Given the description of an element on the screen output the (x, y) to click on. 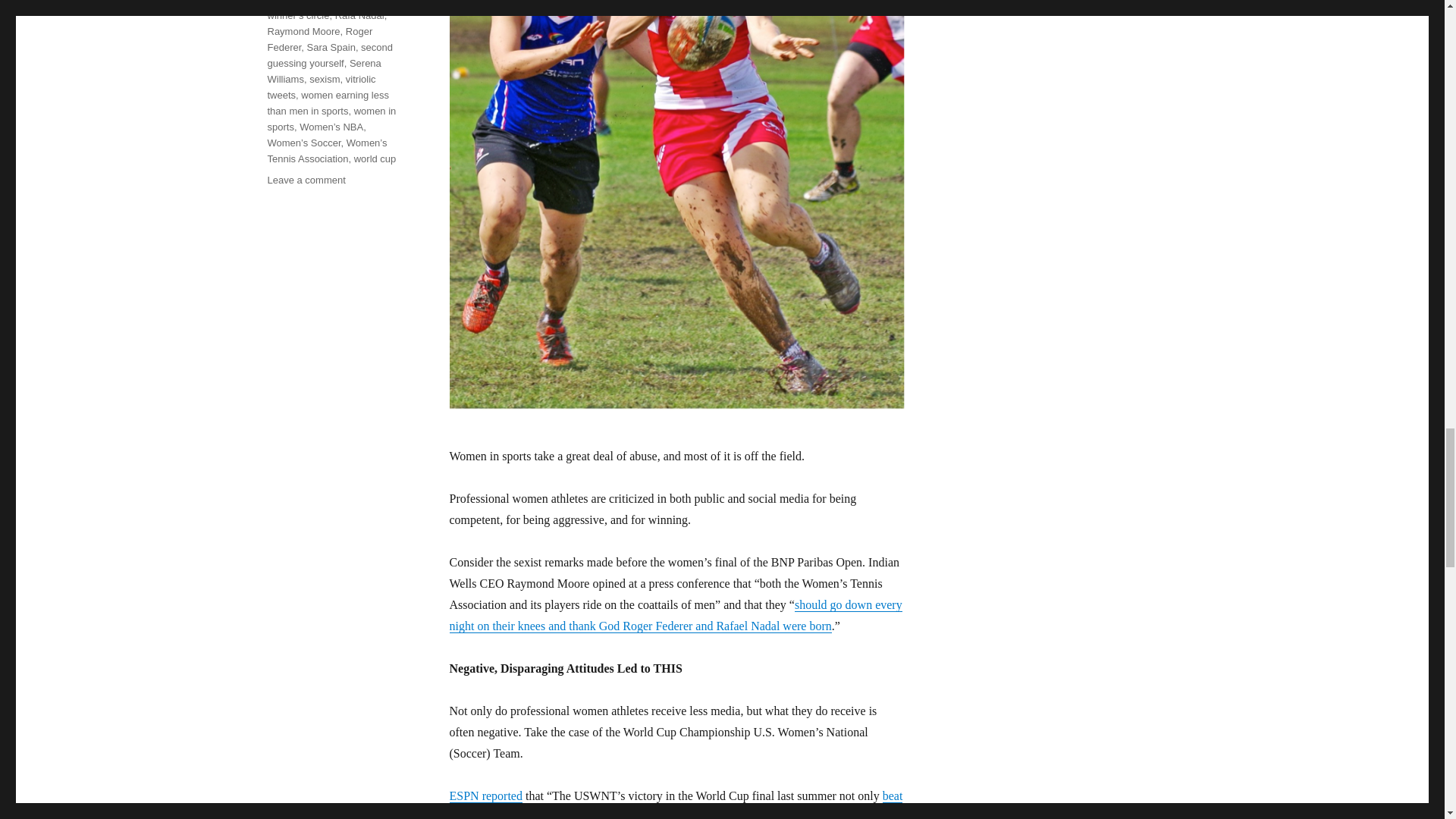
Raymond Moore (302, 30)
ESPN reported (484, 795)
Rafa Nadal (359, 15)
